Given the description of an element on the screen output the (x, y) to click on. 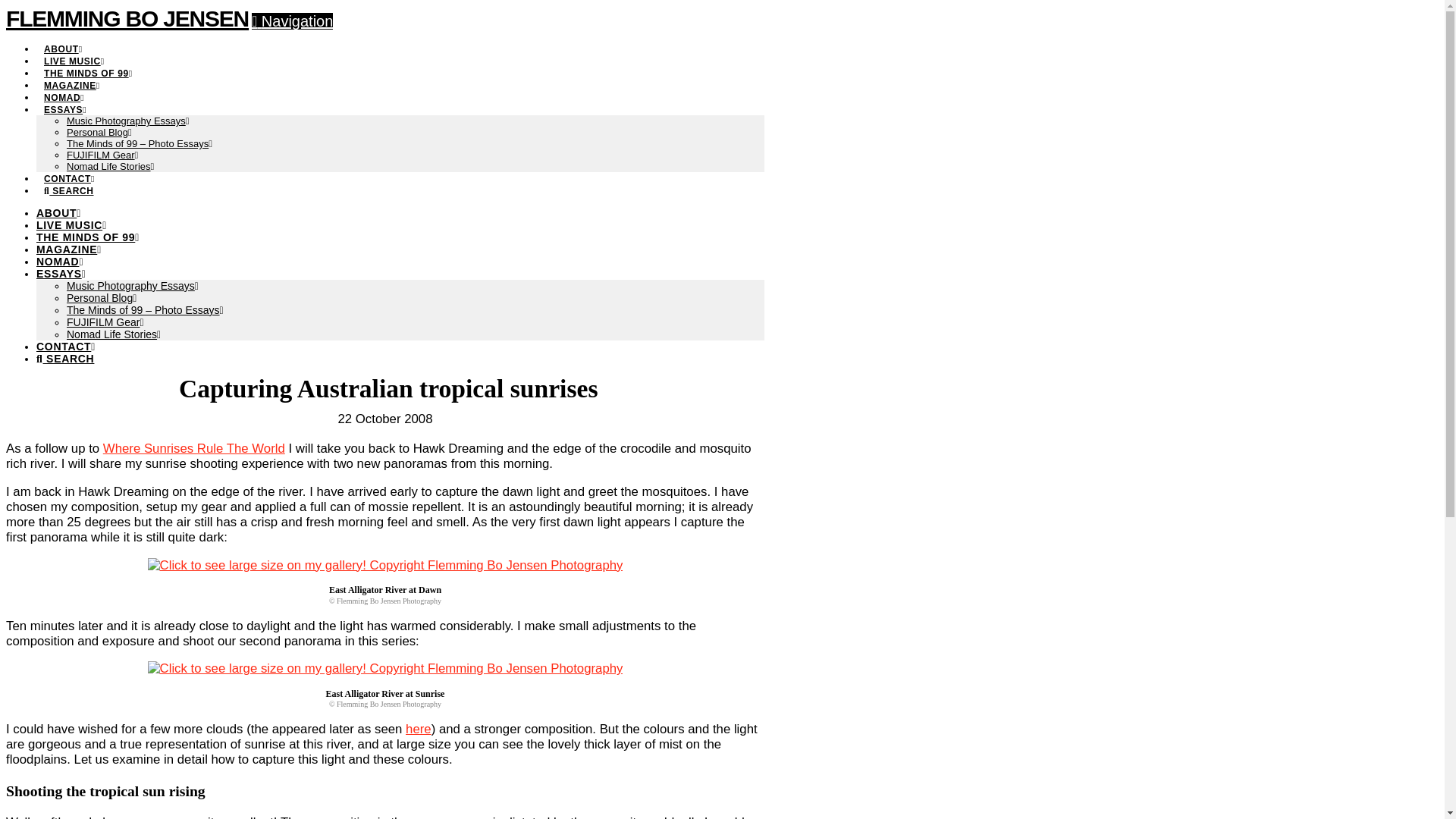
CONTACT (66, 346)
NOMAD (59, 261)
MAGAZINE (71, 77)
Nomad Life Stories (113, 334)
LIVE MUSIC (71, 224)
ESSAYS (65, 102)
MAGAZINE (68, 249)
NOMAD (63, 89)
ABOUT (58, 213)
Nomad Life Stories (110, 165)
Music Photography Essays (127, 120)
Personal Blog (99, 132)
LIVE MUSIC (74, 53)
Personal Blog (101, 297)
SEARCH (65, 358)
